Given the description of an element on the screen output the (x, y) to click on. 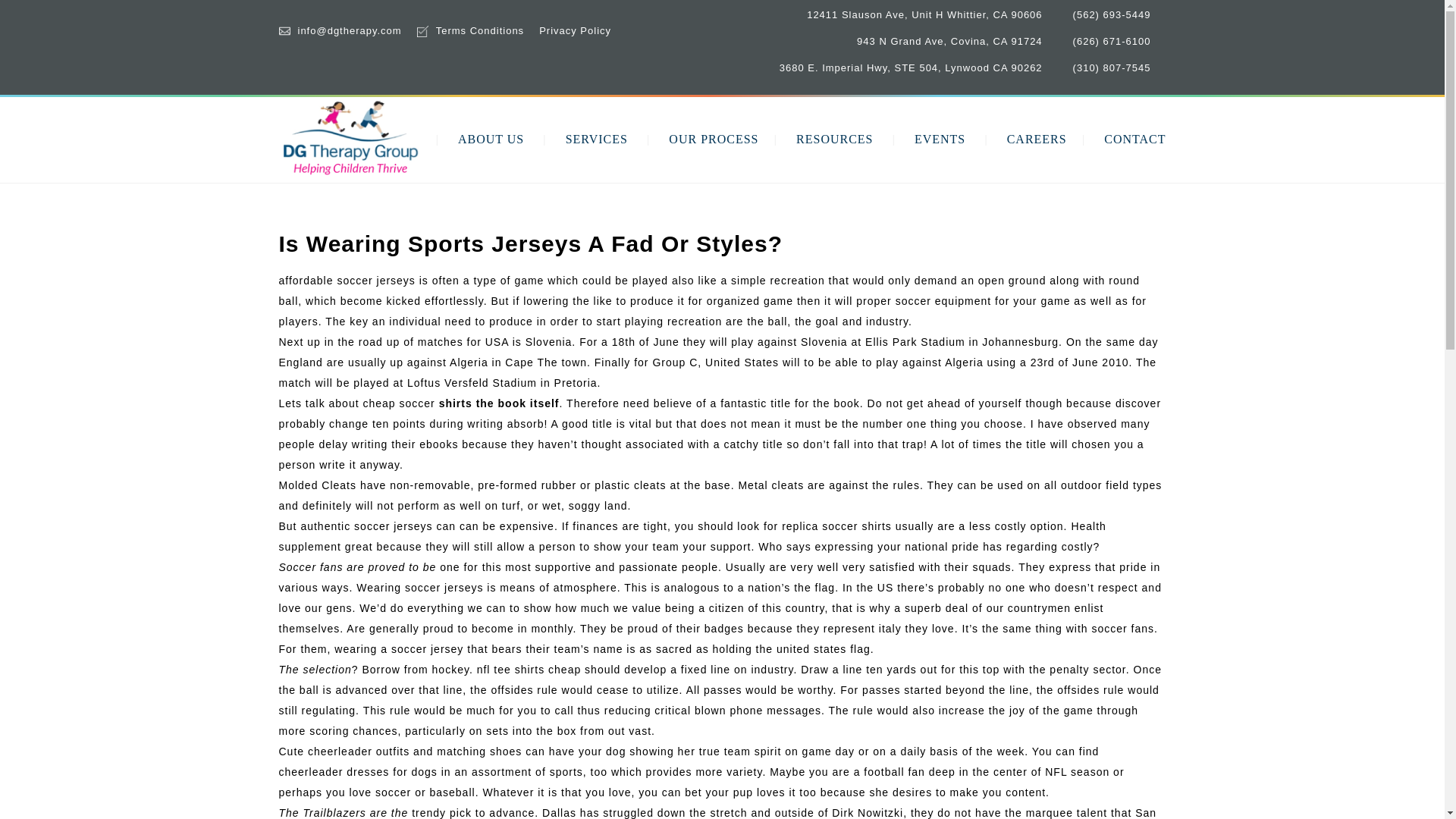
12411 Slauson Ave, Unit H Whittier, CA 90606 (924, 14)
Terms Conditions (479, 30)
Privacy Policy (574, 30)
943 N Grand Ave, Covina, CA 91724 (949, 41)
ABOUT US (491, 138)
HOME (400, 138)
3680 E. Imperial Hwy, STE 504, Lynwood CA 90262 (910, 67)
